Given the description of an element on the screen output the (x, y) to click on. 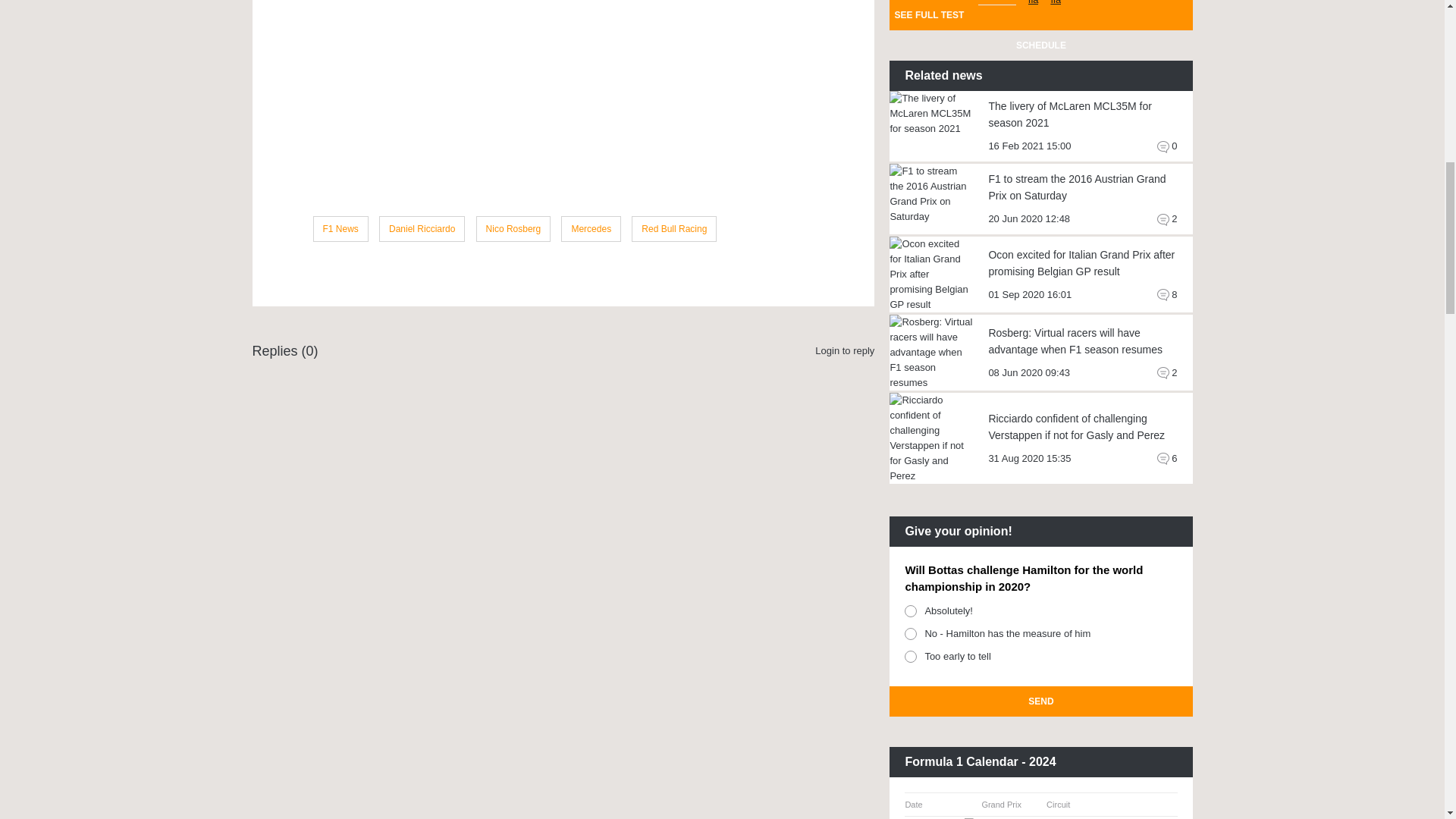
The livery of McLaren MCL35M for season 2021 (930, 113)
F1 to stream the 2016 Austrian Grand Prix on Saturday (930, 193)
Send (1040, 701)
